Given the description of an element on the screen output the (x, y) to click on. 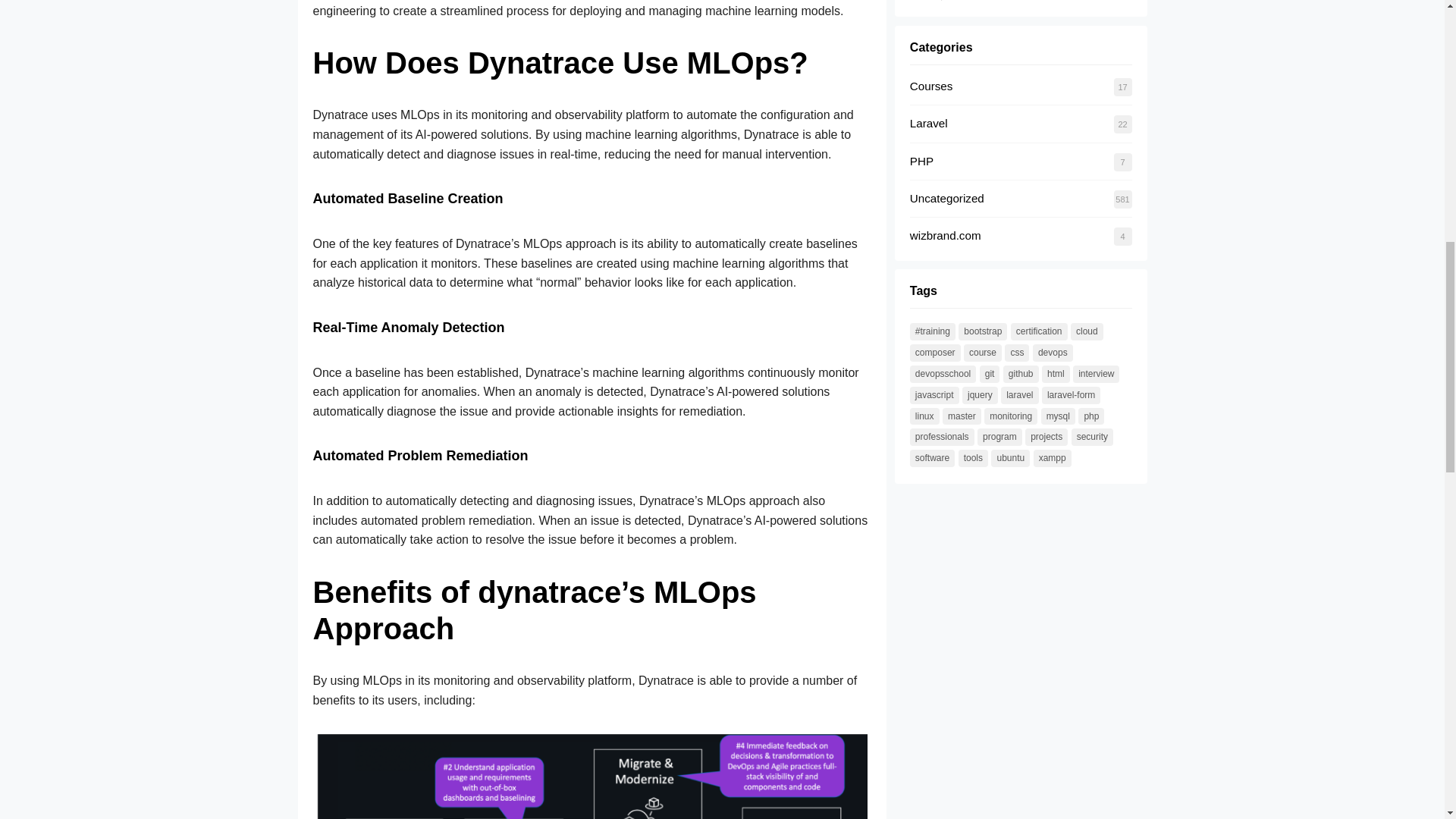
certification (1038, 331)
Uncategorized (947, 197)
Laravel (928, 123)
Courses (931, 85)
PHP (921, 160)
css (1016, 352)
cloud (1086, 331)
wizbrand.com (945, 235)
bootstrap (982, 331)
course (982, 352)
